Given the description of an element on the screen output the (x, y) to click on. 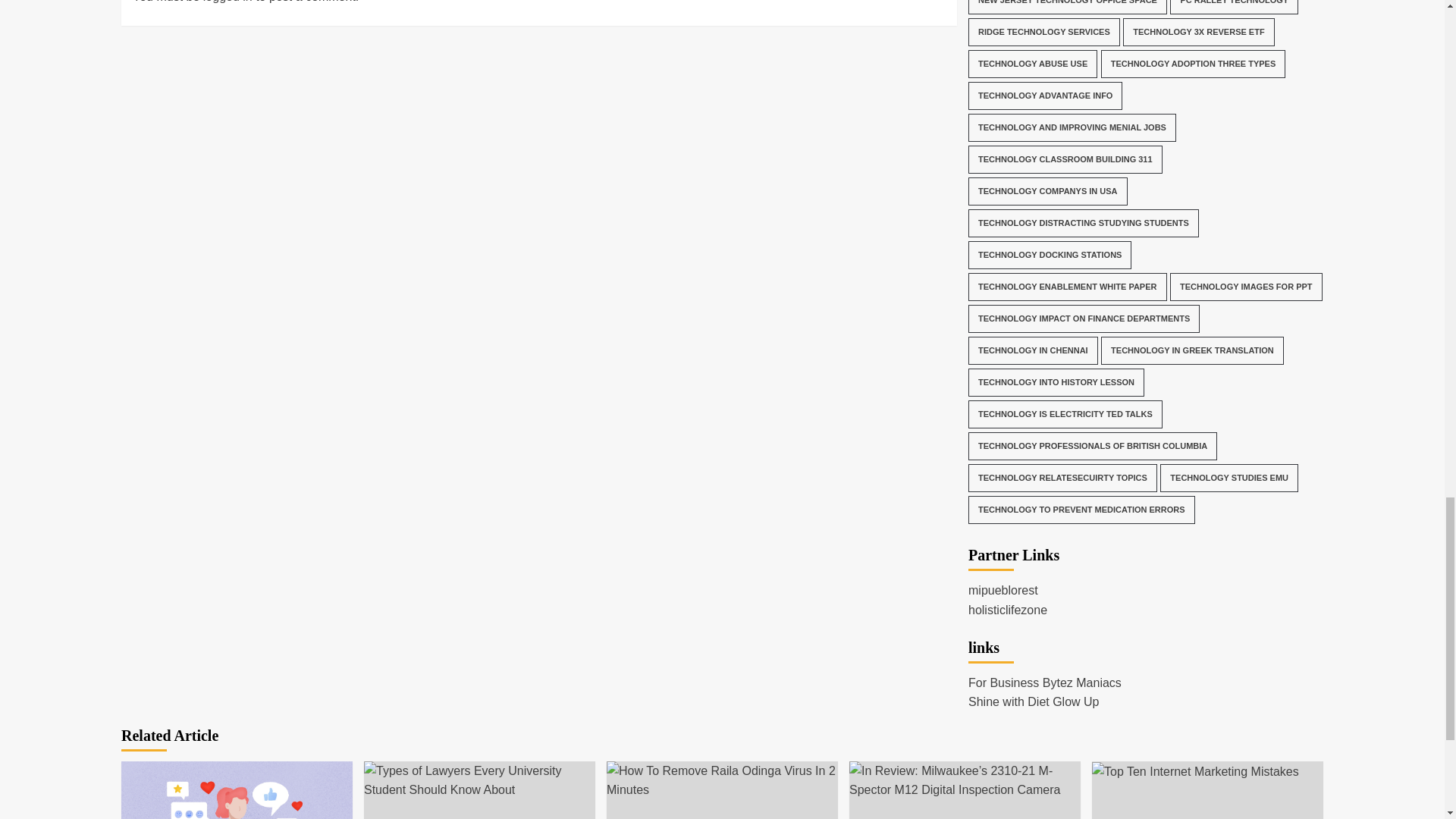
How to Protect Your Online Reputation as a Doctor (236, 790)
Types of Lawyers Every University Student Should Know About (479, 780)
How To Remove Raila Odinga Virus In 2 Minutes (722, 780)
